Given the description of an element on the screen output the (x, y) to click on. 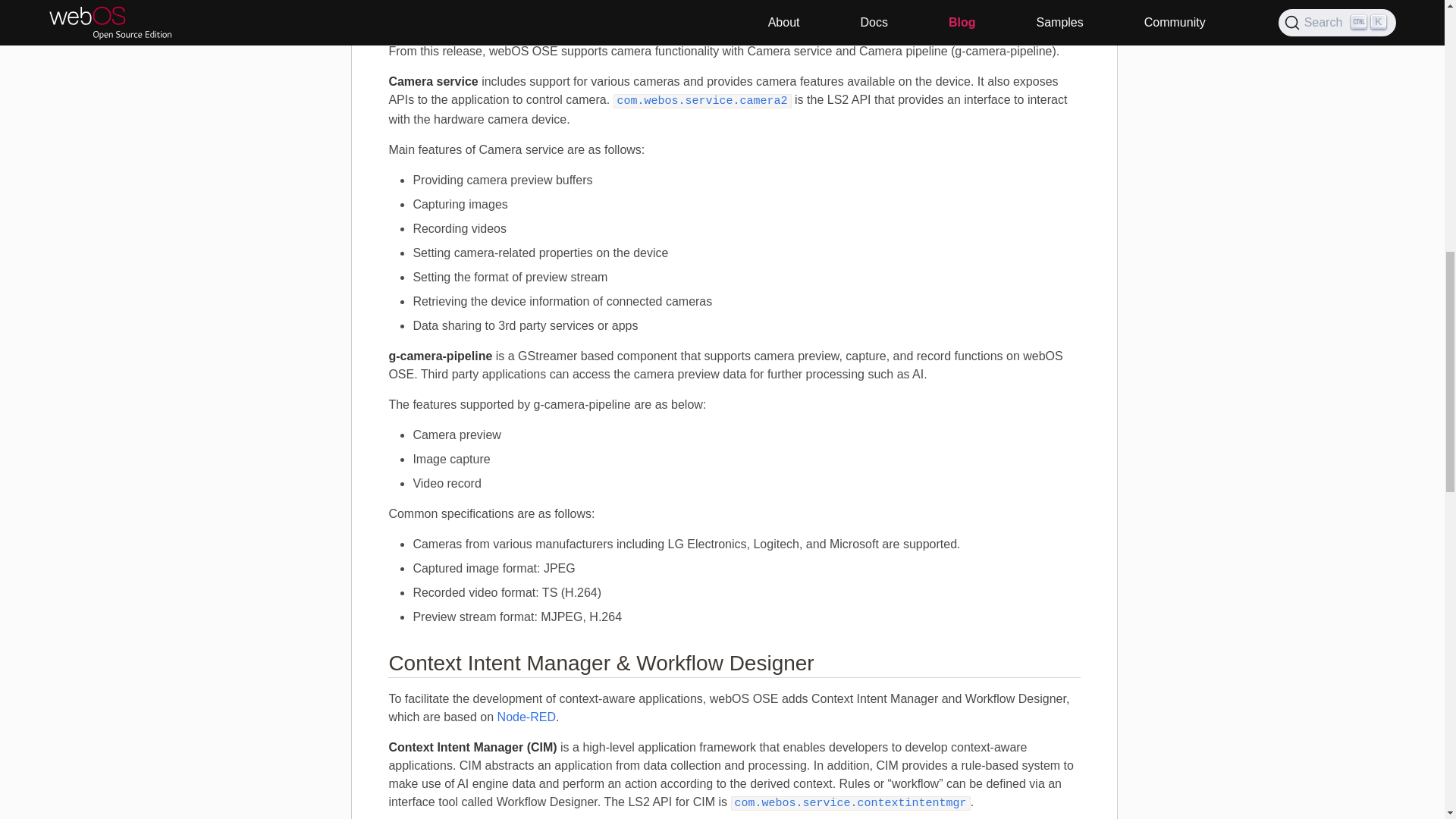
webOS OSE 2.9.0 Release (165, 14)
2020 (165, 37)
